Given the description of an element on the screen output the (x, y) to click on. 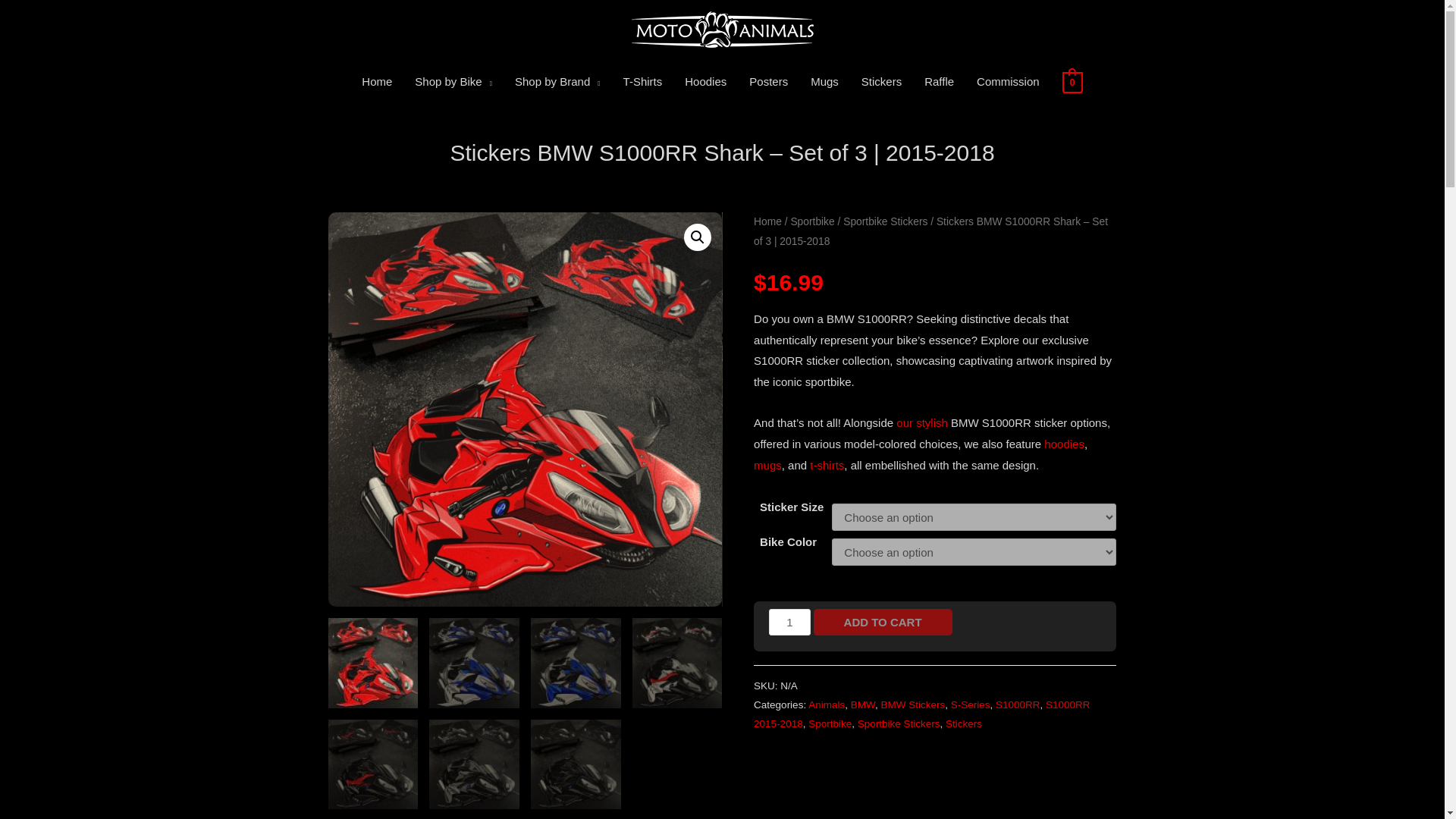
Home (376, 81)
Shop by Bike (453, 81)
View your shopping cart (1072, 81)
1 (788, 622)
